Given the description of an element on the screen output the (x, y) to click on. 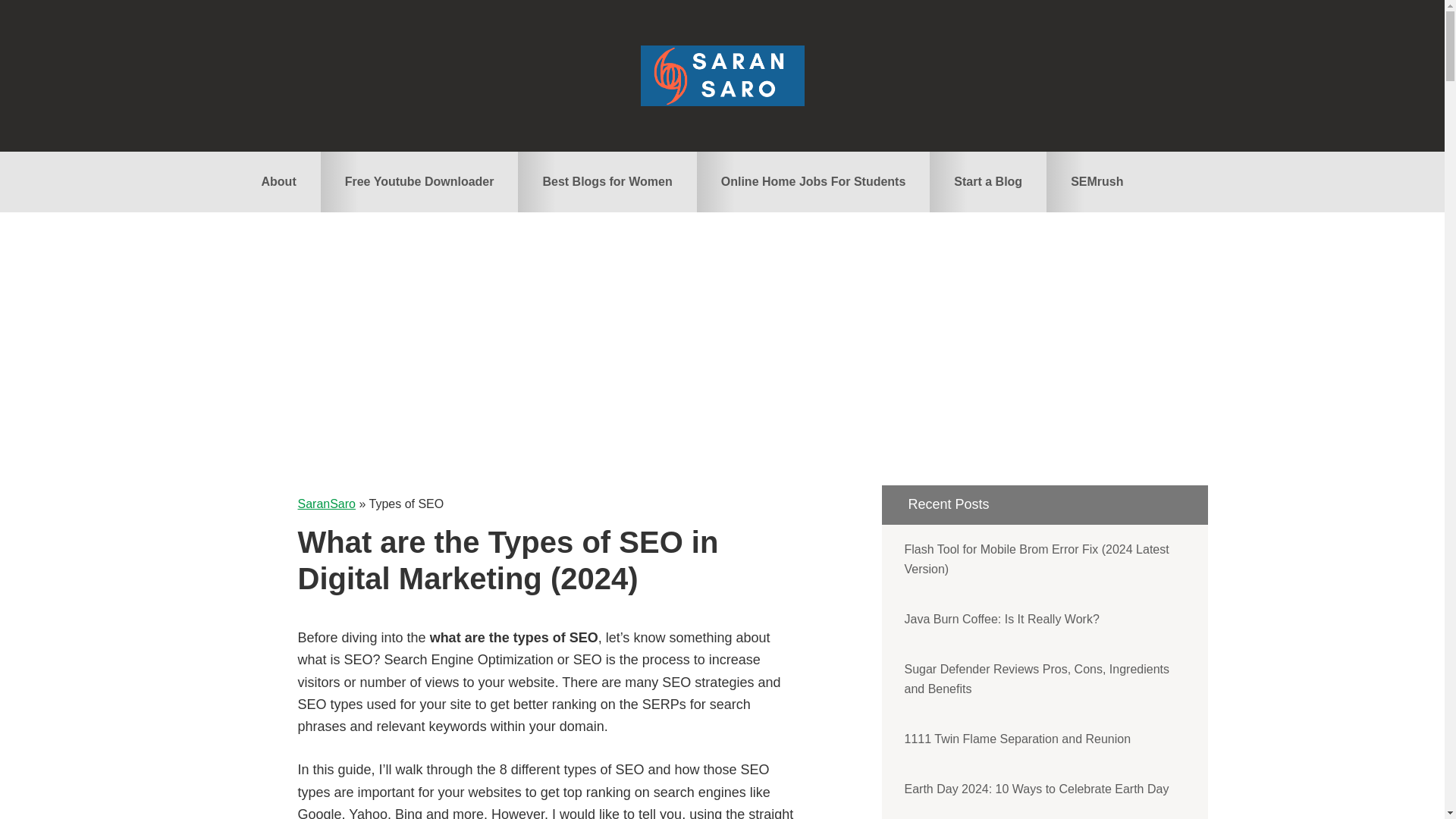
Best Blogs for Women (606, 181)
Java Burn Coffee: Is It Really Work? (1043, 619)
Free Youtube Downloader (419, 181)
SaranSaro (722, 75)
Online Home Jobs For Students (813, 181)
SaranSaro (326, 503)
1111 Twin Flame Separation and Reunion (1043, 739)
SEMrush (1096, 181)
